Given the description of an element on the screen output the (x, y) to click on. 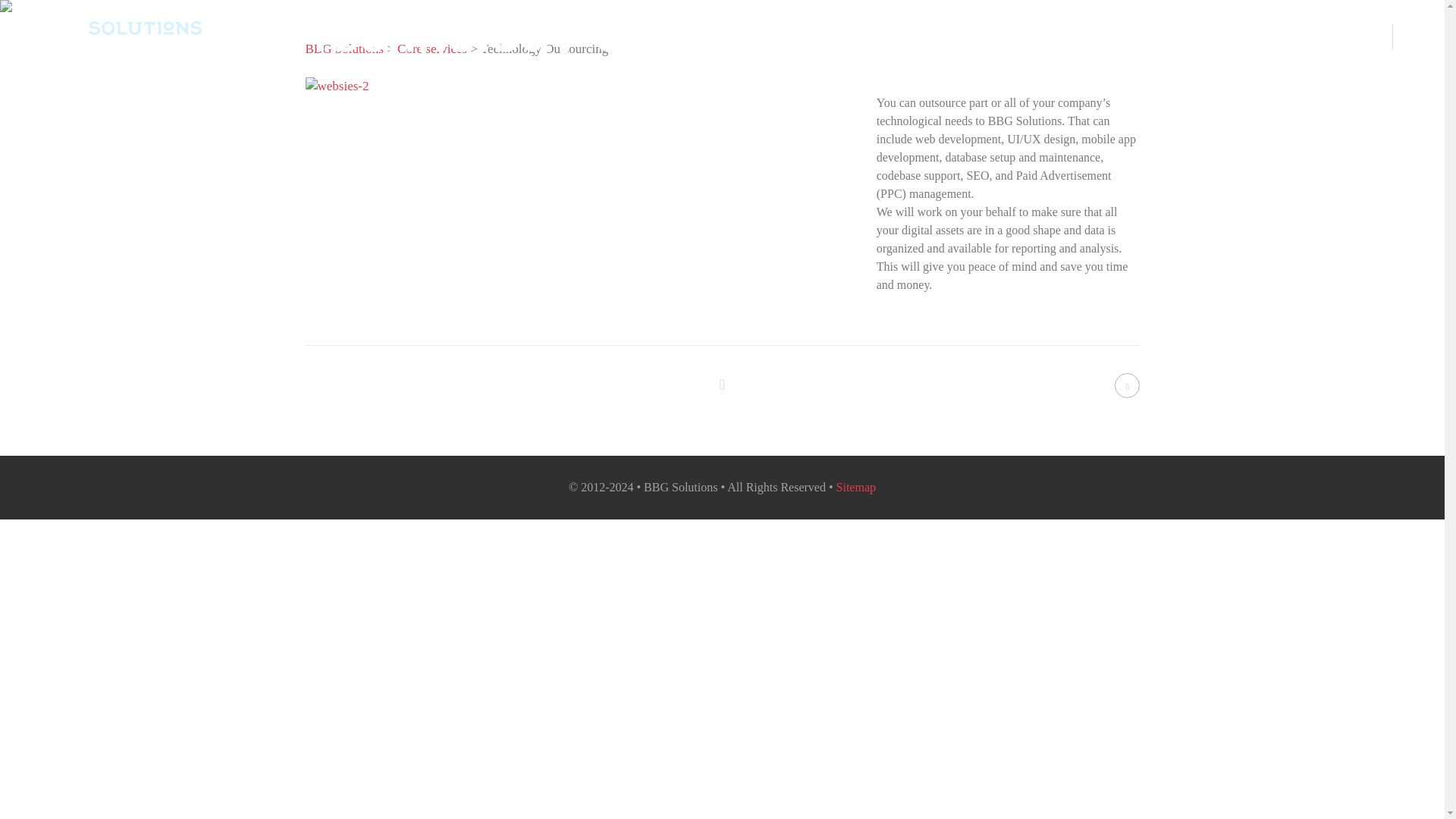
Core services (432, 48)
Sitemap (855, 486)
Portfolio (1222, 38)
Contact (1299, 38)
About Us (1069, 38)
websies-2 (336, 85)
BBG Solutions (343, 48)
Process (1147, 38)
Go to BBG Solutions. (343, 48)
Go to the Core services Portfolio Category archives. (432, 48)
